Given the description of an element on the screen output the (x, y) to click on. 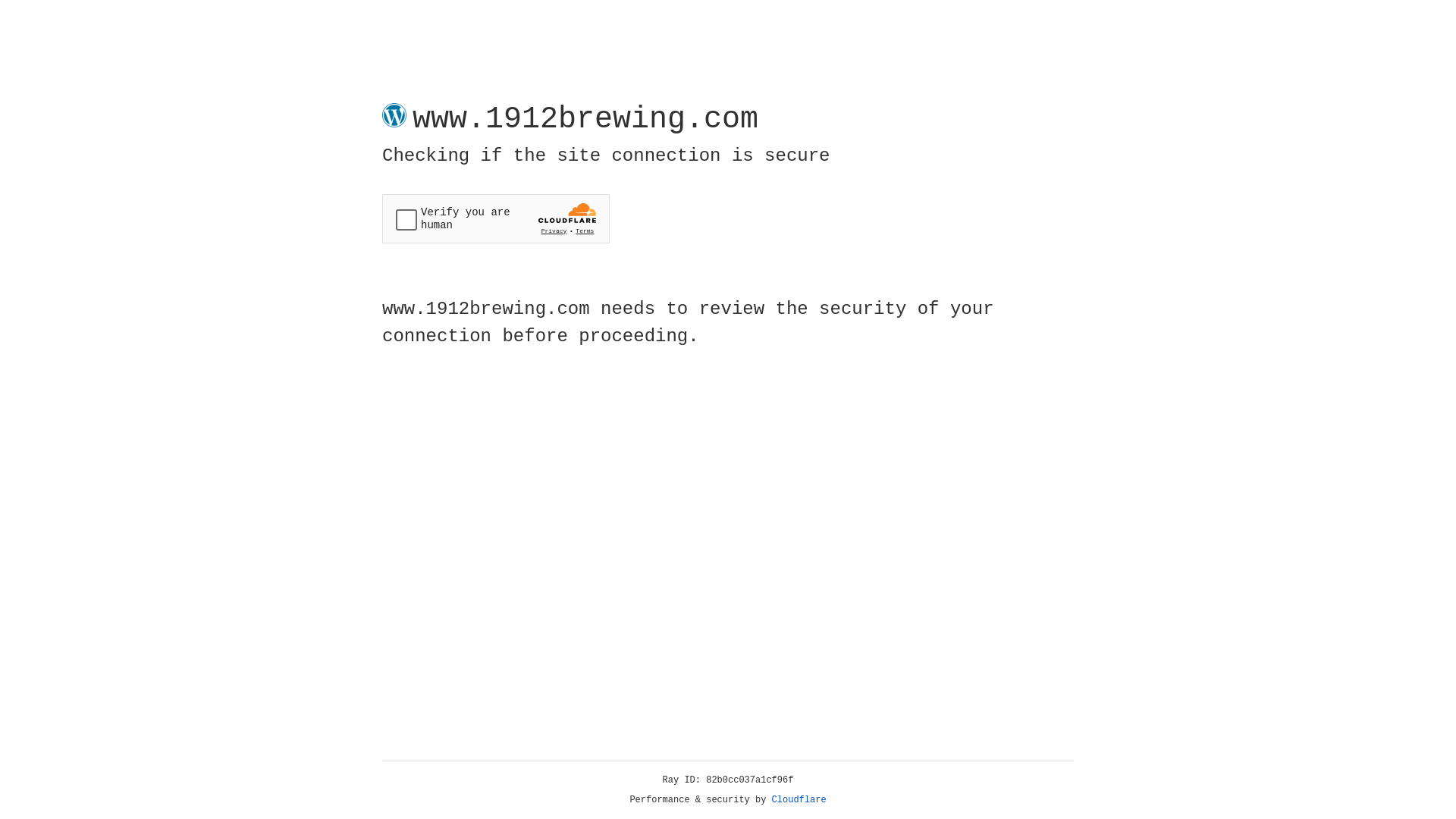
Widget containing a Cloudflare security challenge Element type: hover (495, 218)
Cloudflare Element type: text (798, 799)
